Given the description of an element on the screen output the (x, y) to click on. 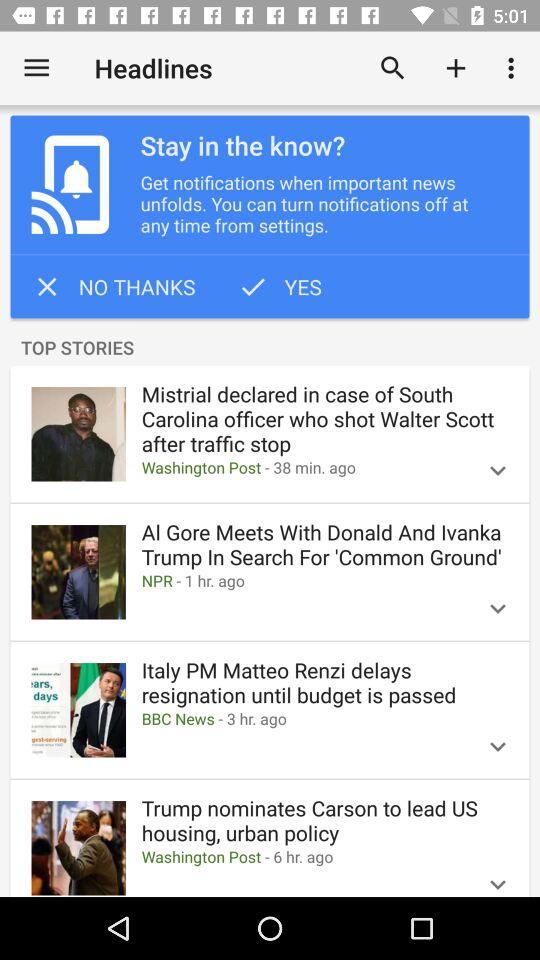
press item to the left of headlines (36, 68)
